Given the description of an element on the screen output the (x, y) to click on. 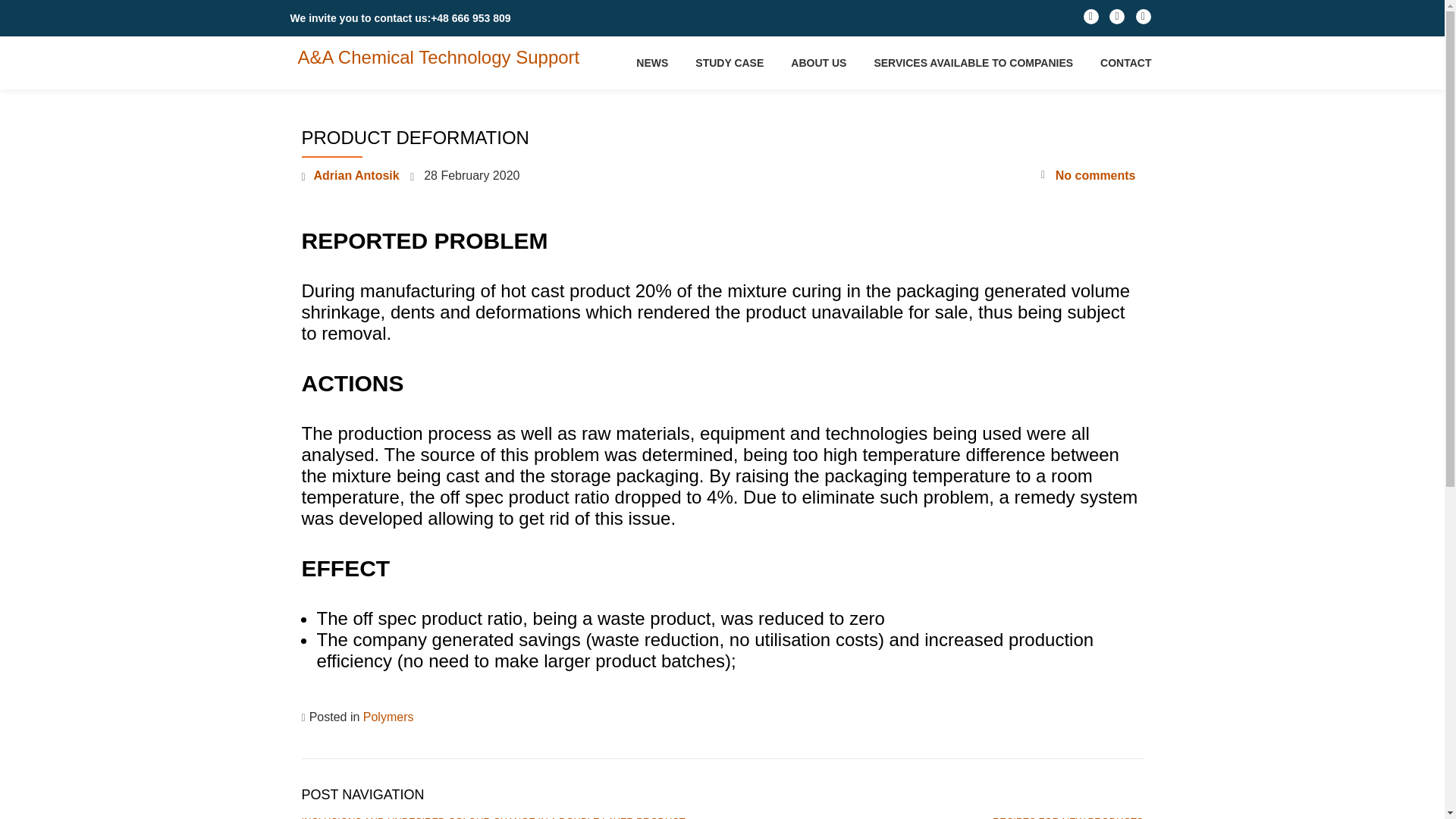
Polymers (387, 716)
fa-google (1143, 19)
RECIPES FOR NEW PRODUCTS (1067, 817)
fa-linkedin (1091, 19)
CONTACT (1125, 62)
SERVICES AVAILABLE TO COMPANIES (973, 62)
NEWS (652, 62)
No comments (1088, 175)
ABOUT US (817, 62)
